Given the description of an element on the screen output the (x, y) to click on. 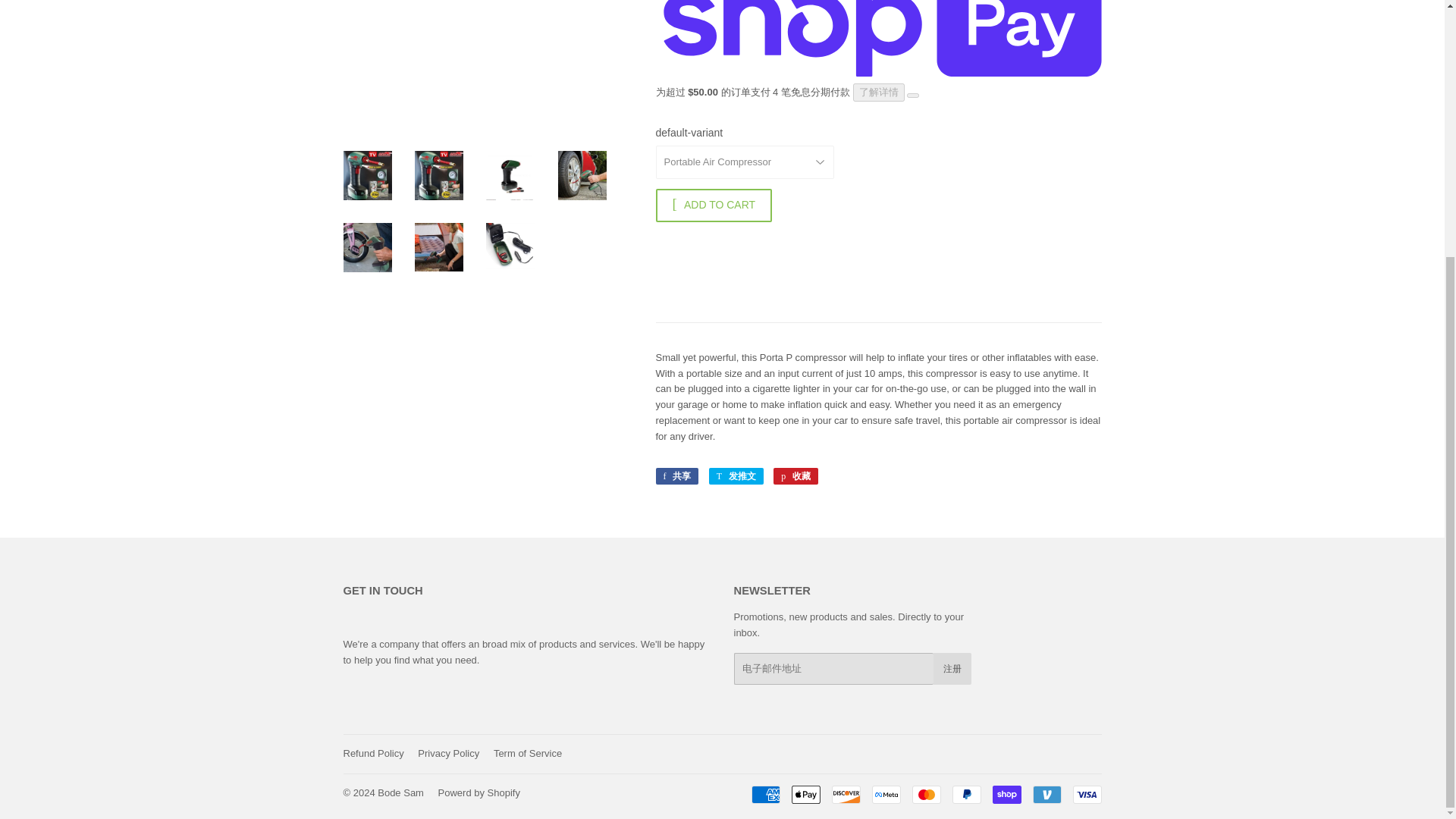
Shop Pay (1005, 794)
ADD TO CART (713, 205)
Privacy Policy (448, 753)
Mastercard (925, 794)
Apple Pay (806, 794)
Discover (845, 794)
American Express (764, 794)
Venmo (1046, 794)
PayPal (966, 794)
Refund Policy (372, 753)
Visa (1085, 794)
Meta Pay (886, 794)
